Given the description of an element on the screen output the (x, y) to click on. 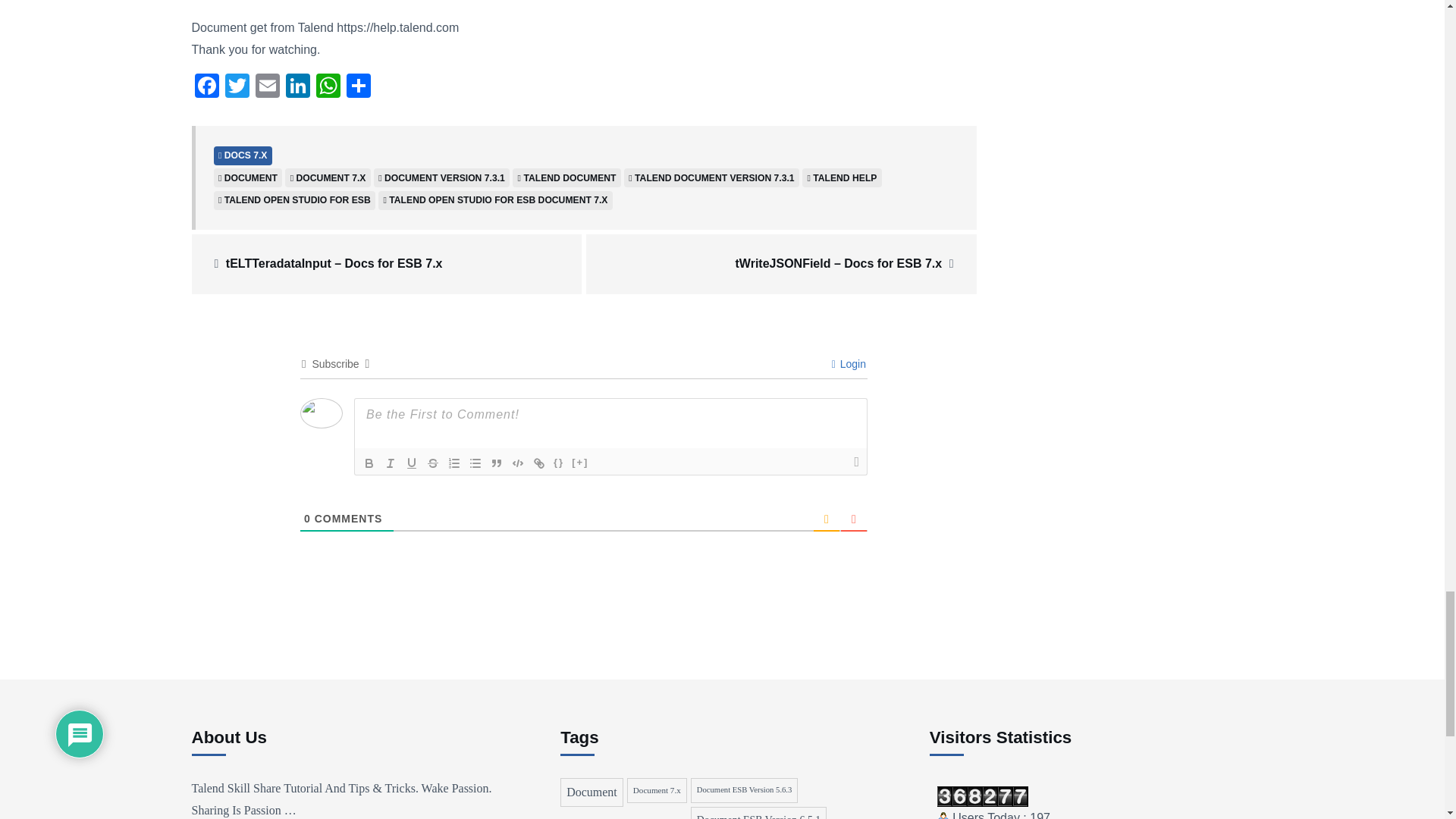
Ordered List (454, 463)
Twitter (236, 87)
Bold (369, 463)
Code Block (517, 463)
Unordered List (475, 463)
Twitter (236, 87)
WhatsApp (327, 87)
Facebook (205, 87)
Email (266, 87)
Email (266, 87)
LinkedIn (297, 87)
Italic (390, 463)
Facebook (205, 87)
Blockquote (496, 463)
Strike (433, 463)
